Given the description of an element on the screen output the (x, y) to click on. 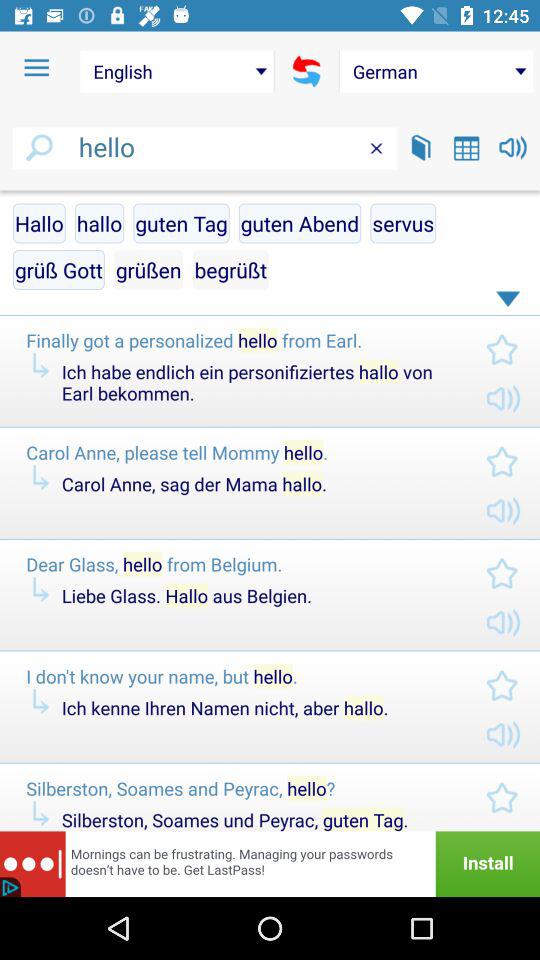
switch translation selections (306, 71)
